Given the description of an element on the screen output the (x, y) to click on. 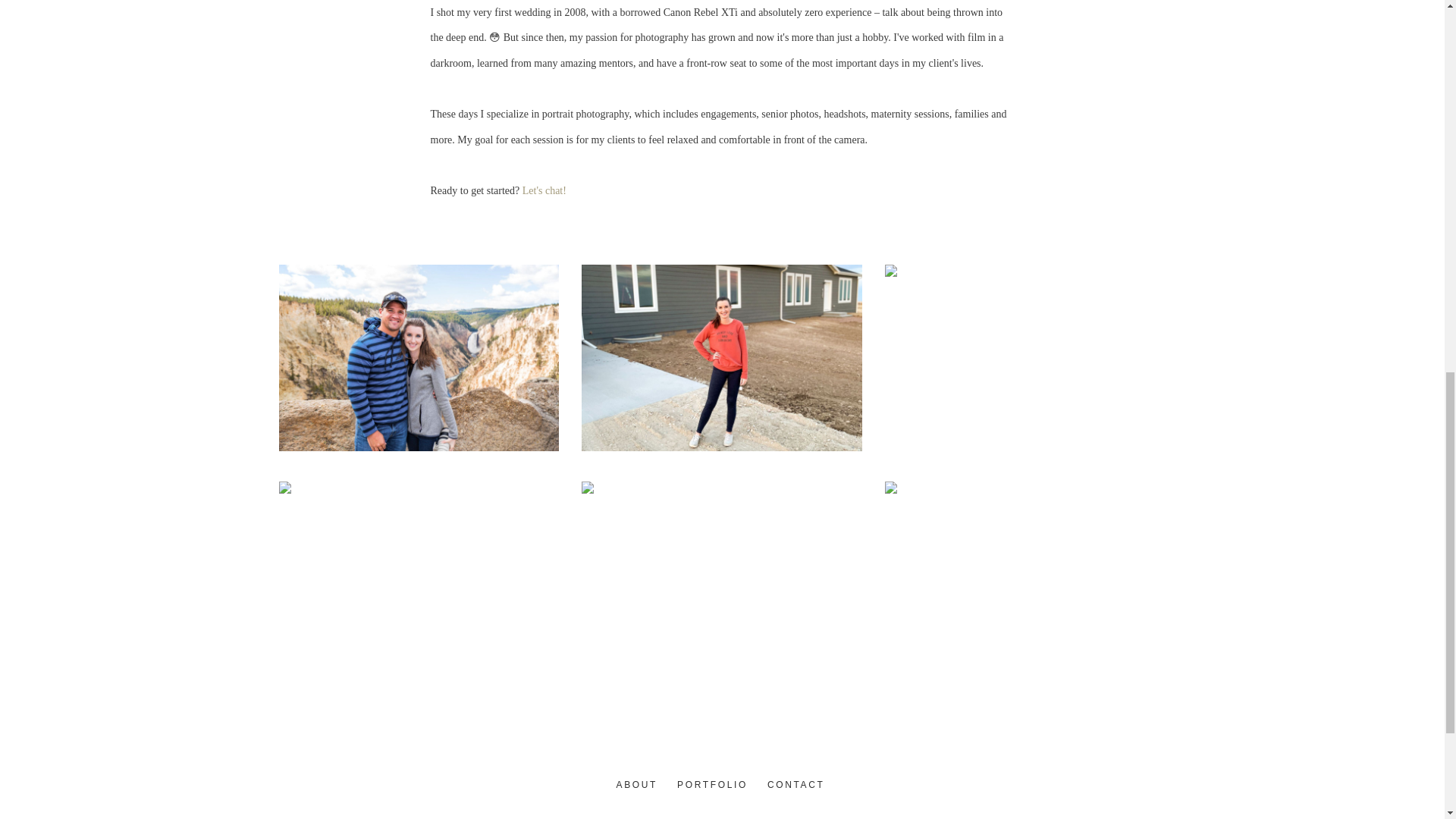
ABOUT (636, 784)
Let's chat! (544, 190)
CONTACT (796, 784)
PORTFOLIO (712, 784)
